Given the description of an element on the screen output the (x, y) to click on. 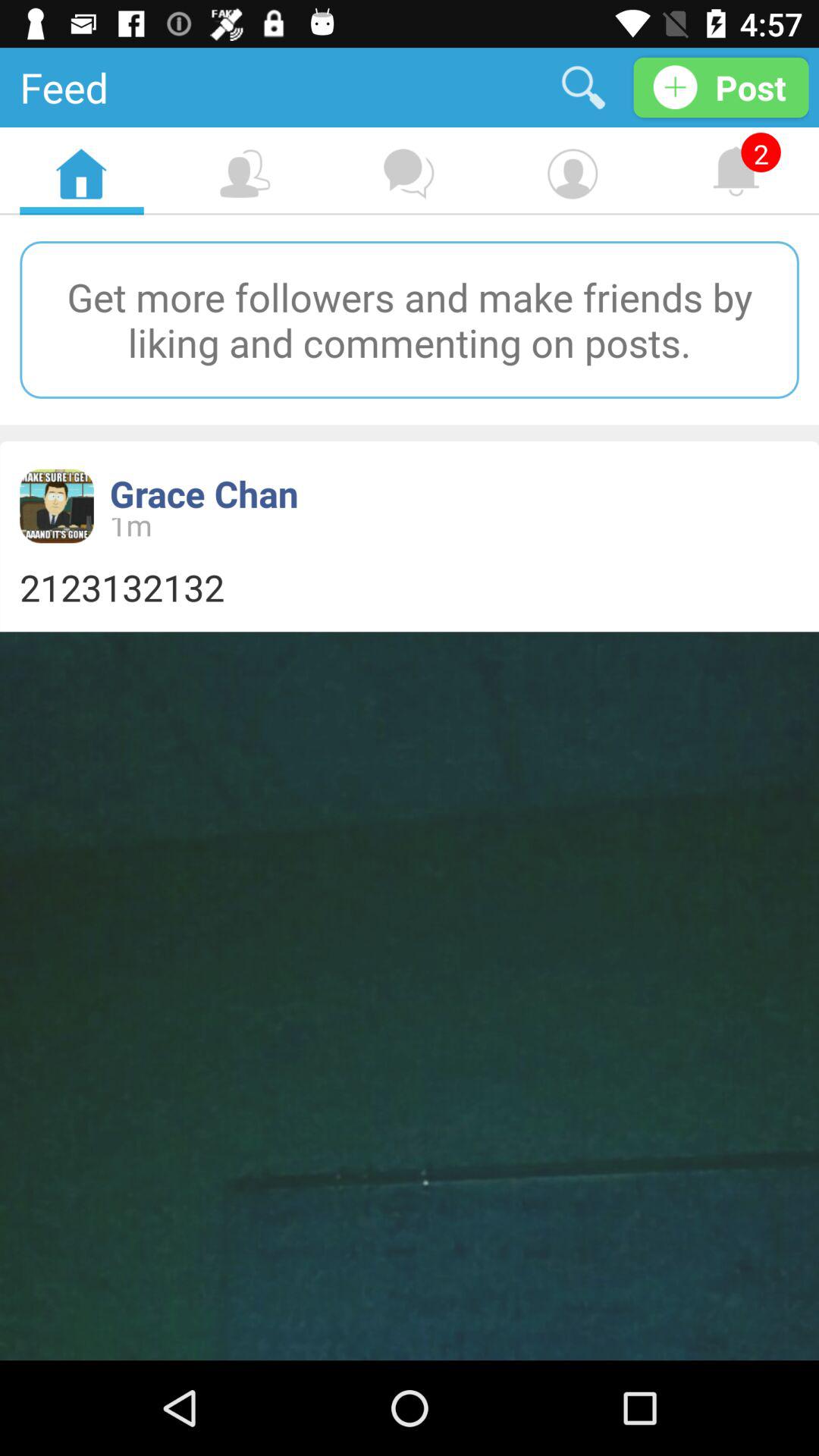
click icon to the right of feed item (583, 87)
